Given the description of an element on the screen output the (x, y) to click on. 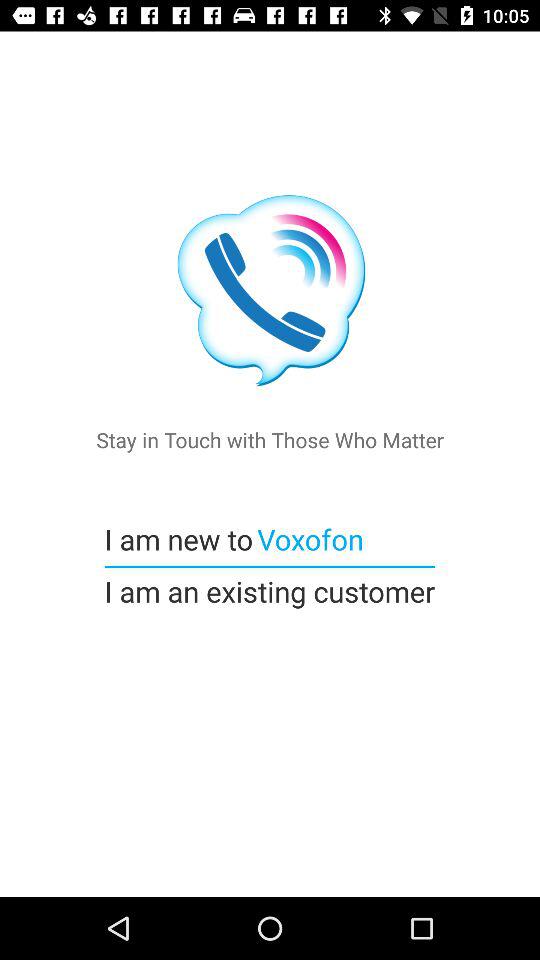
select the icon next to i am new item (308, 538)
